Given the description of an element on the screen output the (x, y) to click on. 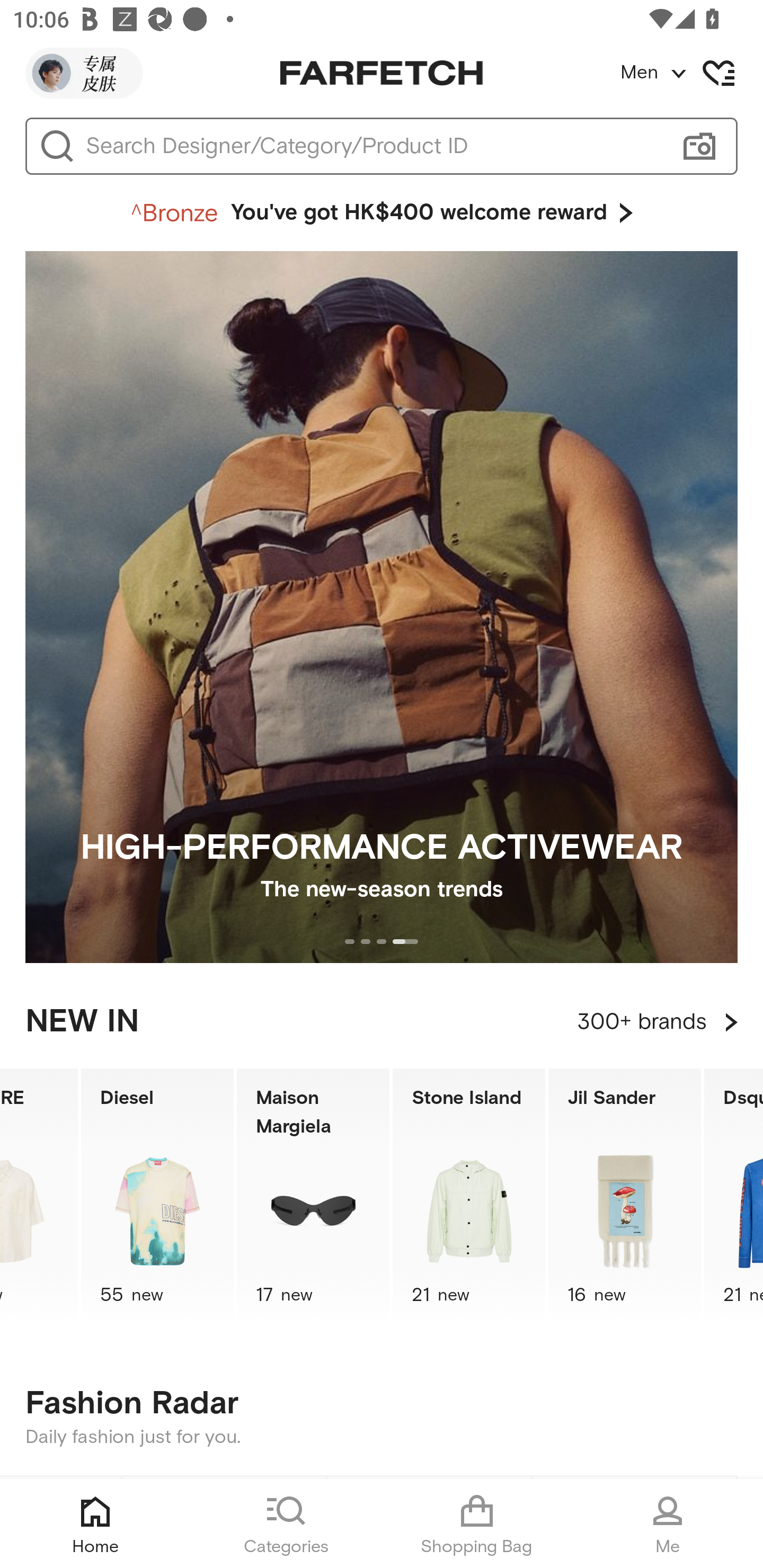
Men (691, 72)
Search Designer/Category/Product ID (373, 146)
You've got HK$400 welcome reward (381, 213)
NEW IN 300+ brands (381, 1021)
Diesel 55  new (156, 1196)
Maison Margiela 17  new (312, 1196)
Stone Island 21  new (468, 1196)
Jil Sander 16  new (624, 1196)
Categories (285, 1523)
Shopping Bag (476, 1523)
Me (667, 1523)
